Given the description of an element on the screen output the (x, y) to click on. 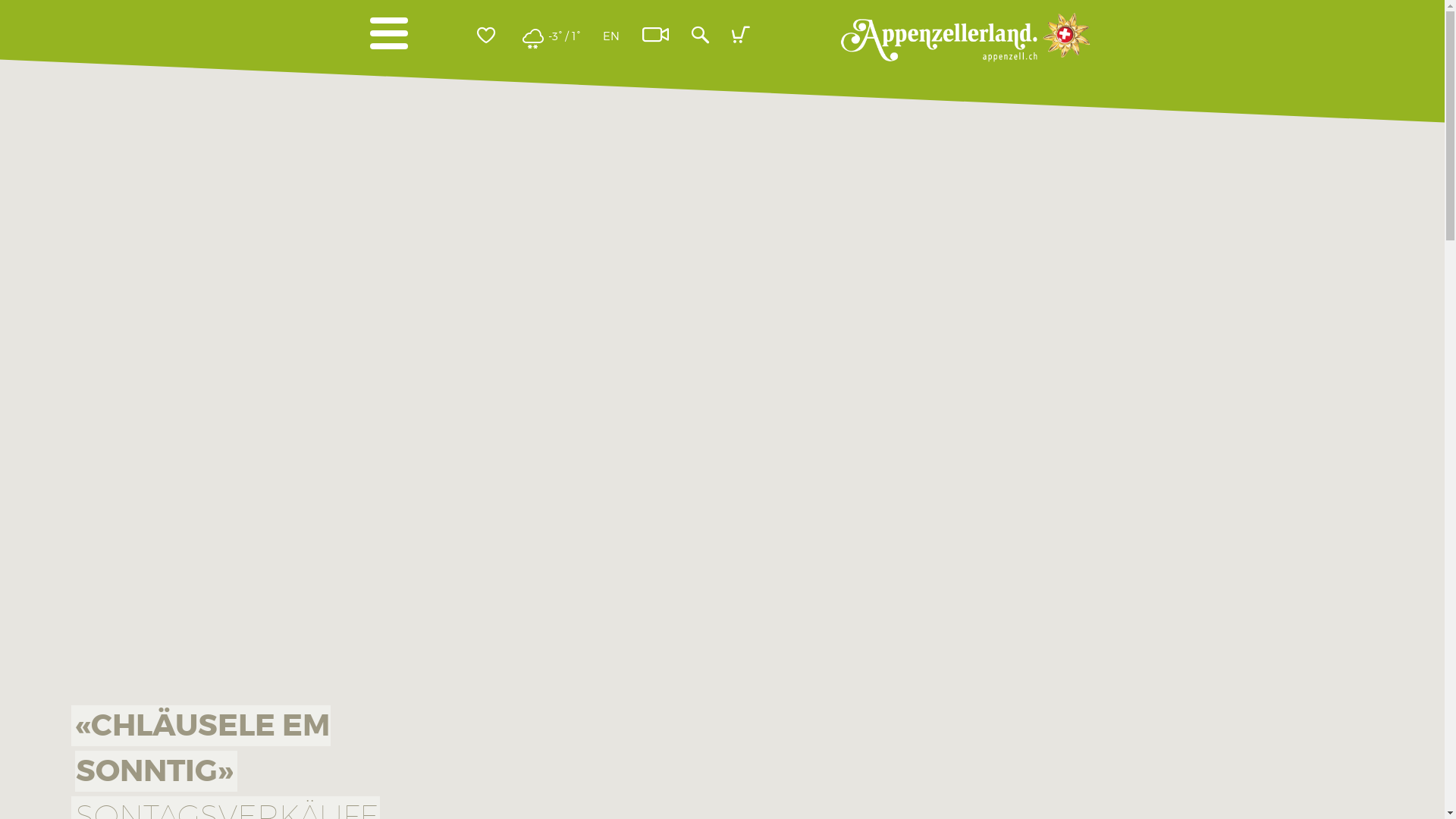
Favorites Element type: hover (485, 36)
Shop Element type: hover (740, 36)
Menu Element type: hover (388, 33)
Webcam Element type: hover (655, 36)
Search Element type: hover (699, 36)
EN Element type: text (610, 36)
